Given the description of an element on the screen output the (x, y) to click on. 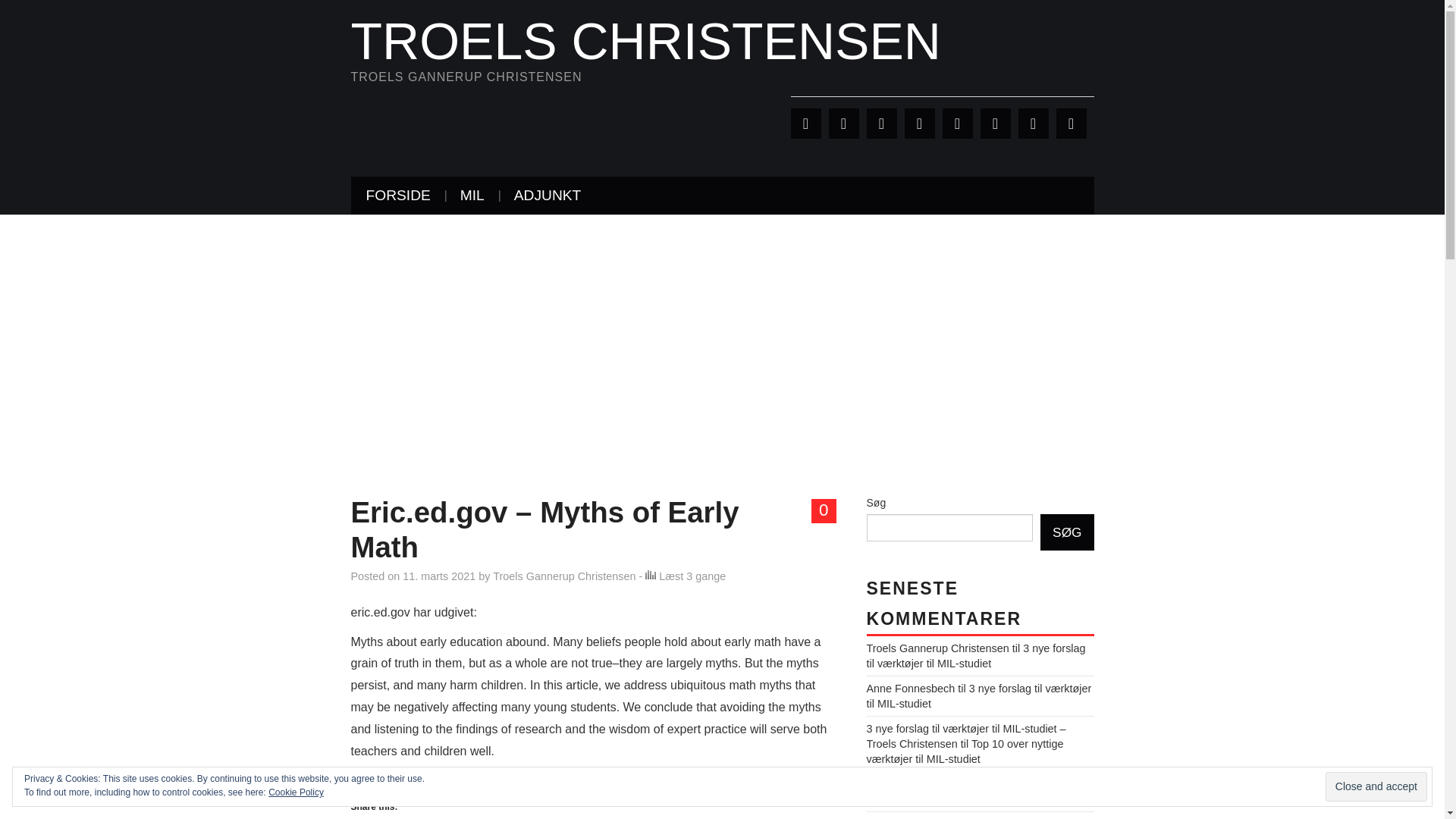
0 (822, 510)
TROELS CHRISTENSEN (645, 40)
YouTube (994, 123)
11. marts 2021 (439, 576)
Close and accept (1375, 786)
Troels Gannerup Christensen (563, 576)
01:48 (439, 576)
Twitter (805, 123)
LinkedIn (881, 123)
Link til kilde (381, 771)
View all posts by Troels Gannerup Christensen (563, 576)
ADJUNKT (547, 195)
Troels Christensen (645, 40)
MIL (472, 195)
